Given the description of an element on the screen output the (x, y) to click on. 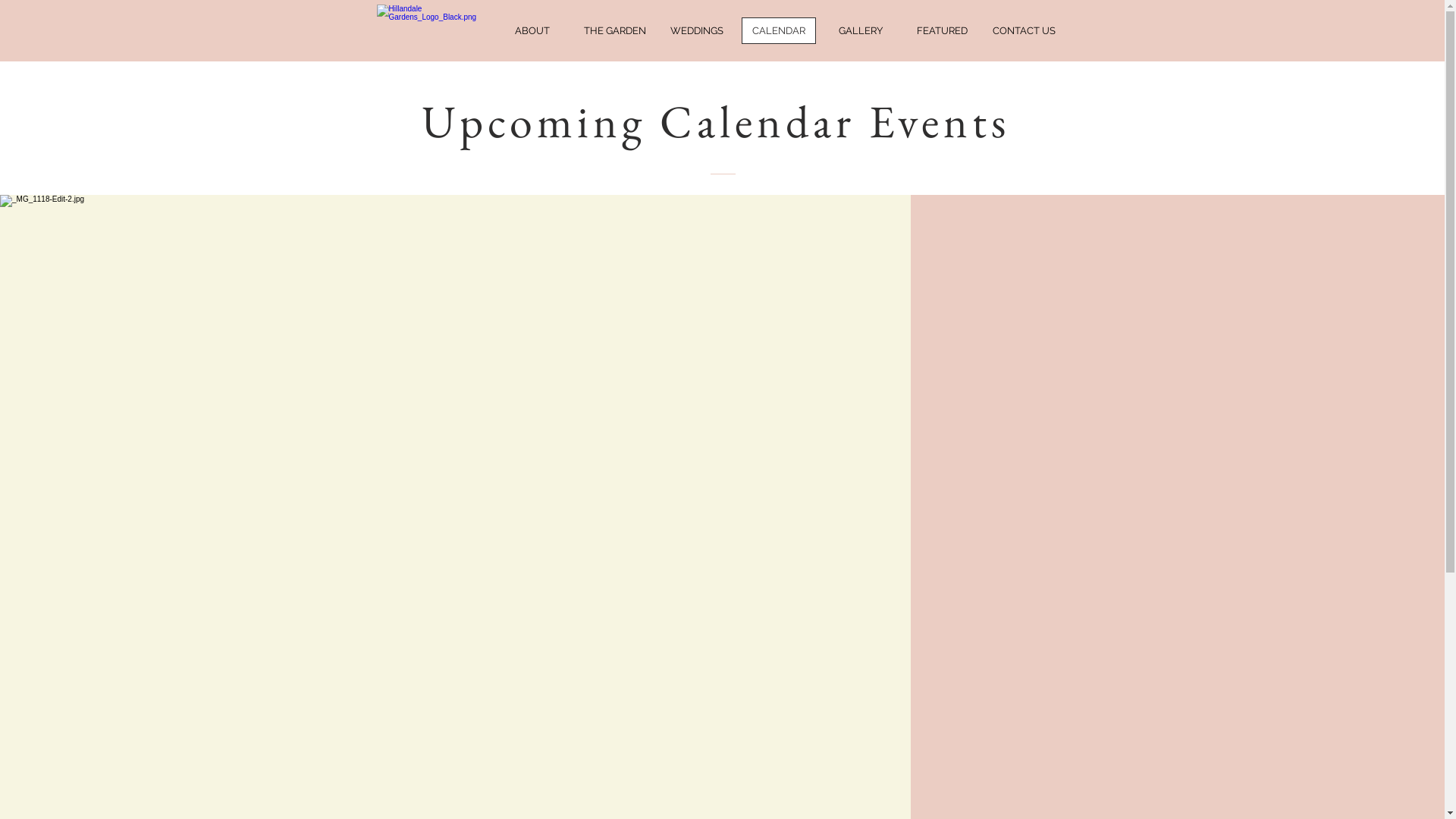
THE GARDEN Element type: text (614, 30)
WEDDINGS Element type: text (696, 30)
CALENDAR Element type: text (778, 30)
GALLERY Element type: text (860, 30)
ABOUT Element type: text (531, 30)
CONTACT US Element type: text (1024, 30)
FEATURED Element type: text (942, 30)
